Given the description of an element on the screen output the (x, y) to click on. 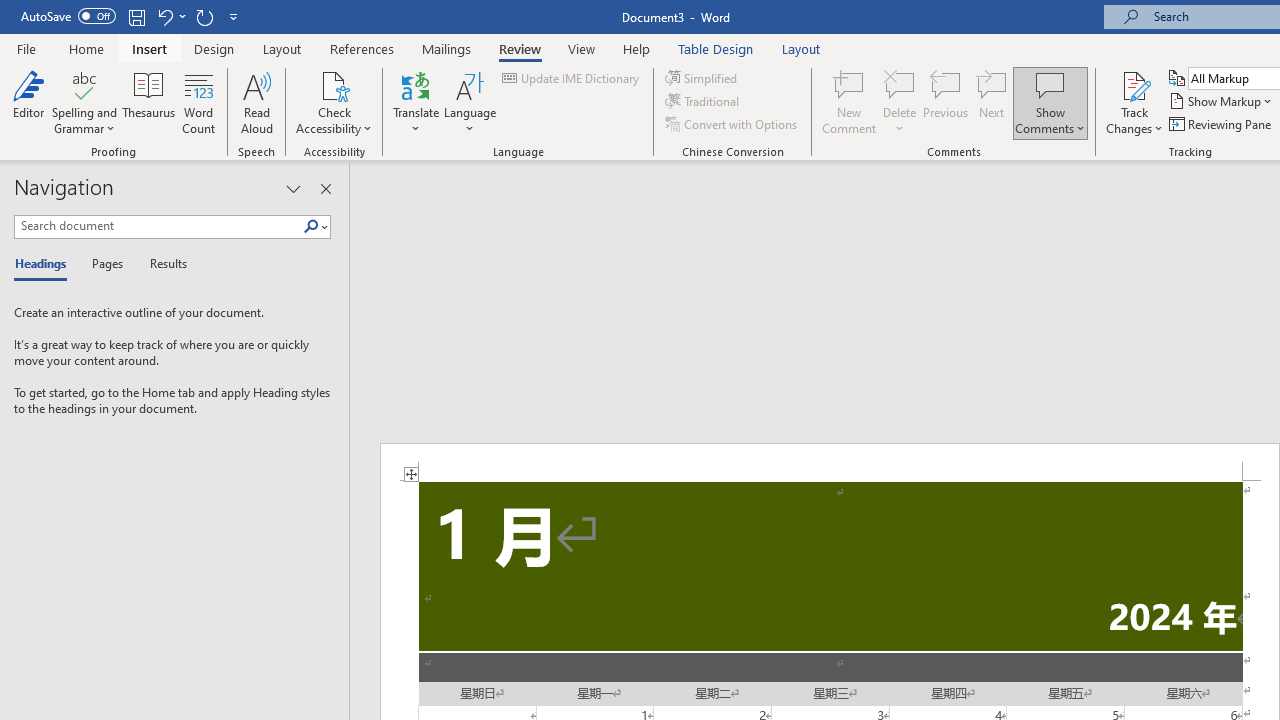
Delete (900, 84)
Language (470, 102)
Check Accessibility (334, 84)
Reviewing Pane (1221, 124)
